Given the description of an element on the screen output the (x, y) to click on. 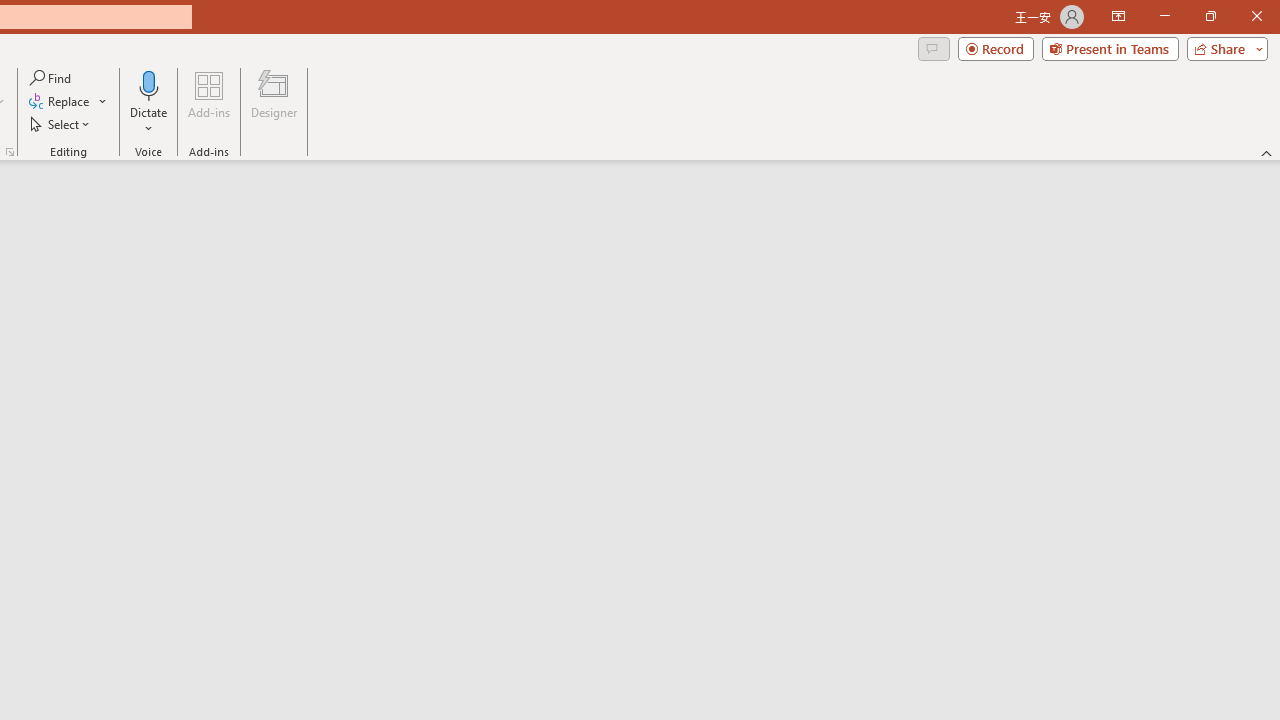
Select (61, 124)
Find... (51, 78)
